Given the description of an element on the screen output the (x, y) to click on. 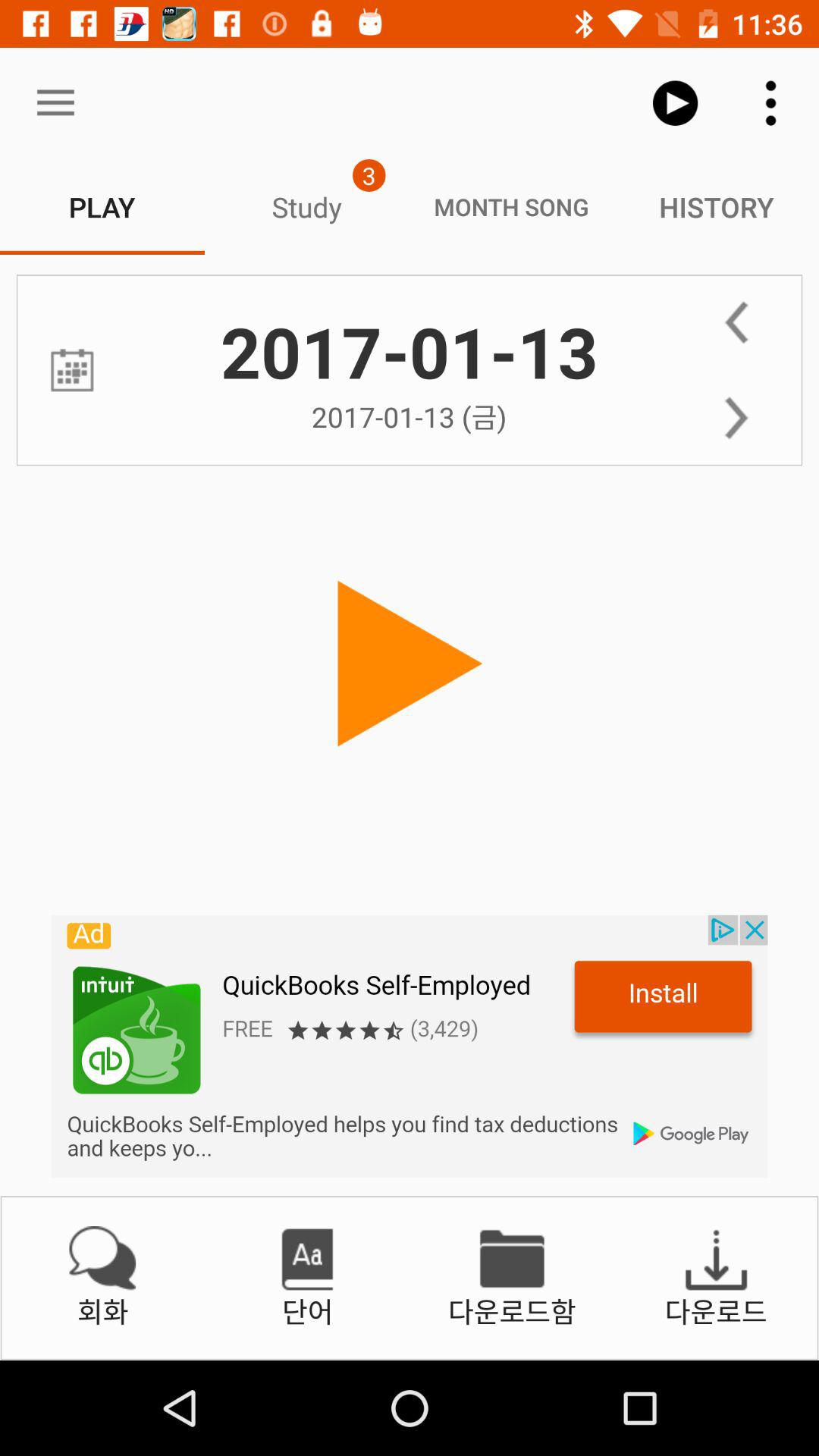
colender option (71, 370)
